Given the description of an element on the screen output the (x, y) to click on. 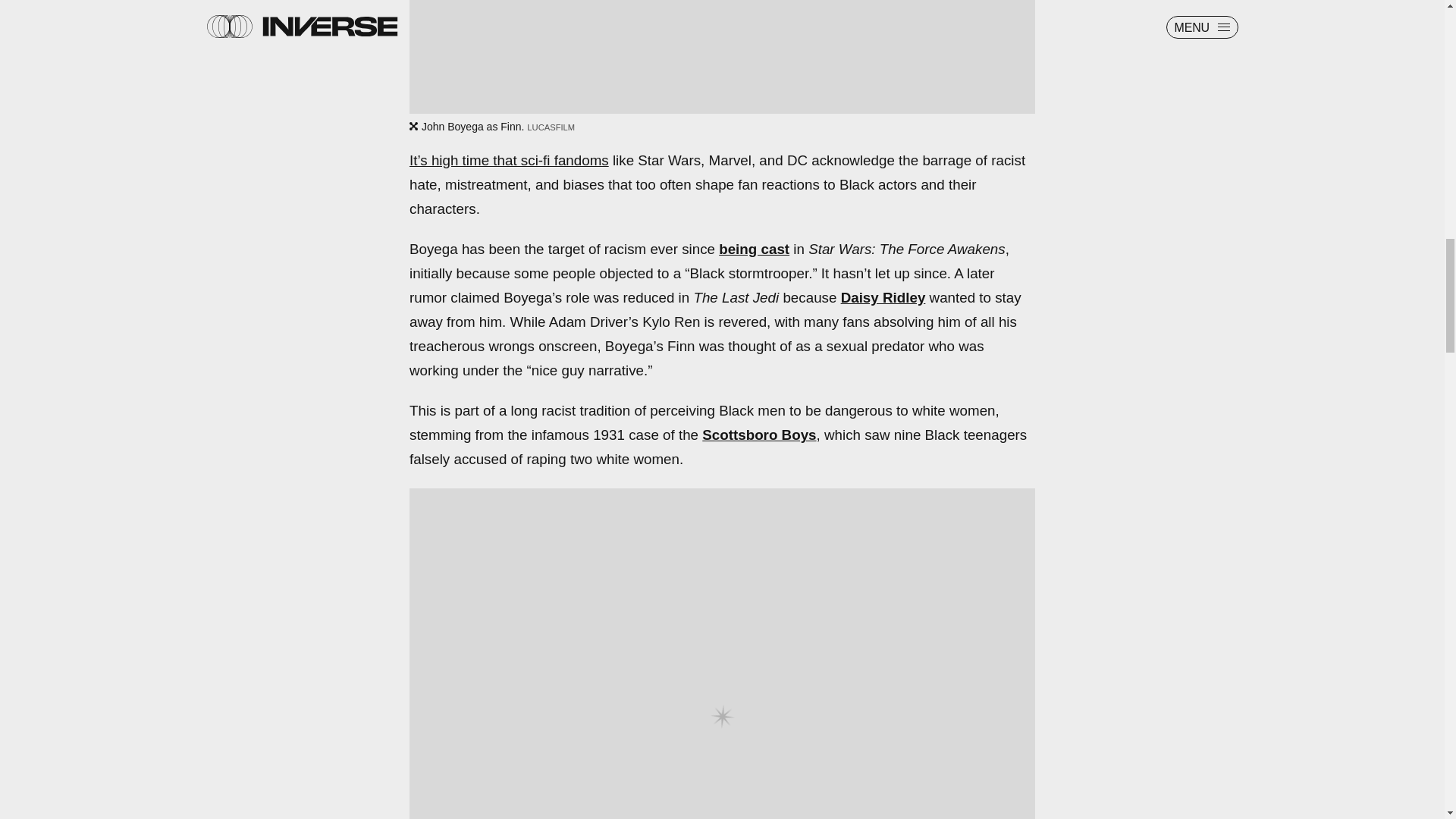
Daisy Ridley (883, 297)
Scottsboro Boys (758, 434)
being cast (754, 248)
